Given the description of an element on the screen output the (x, y) to click on. 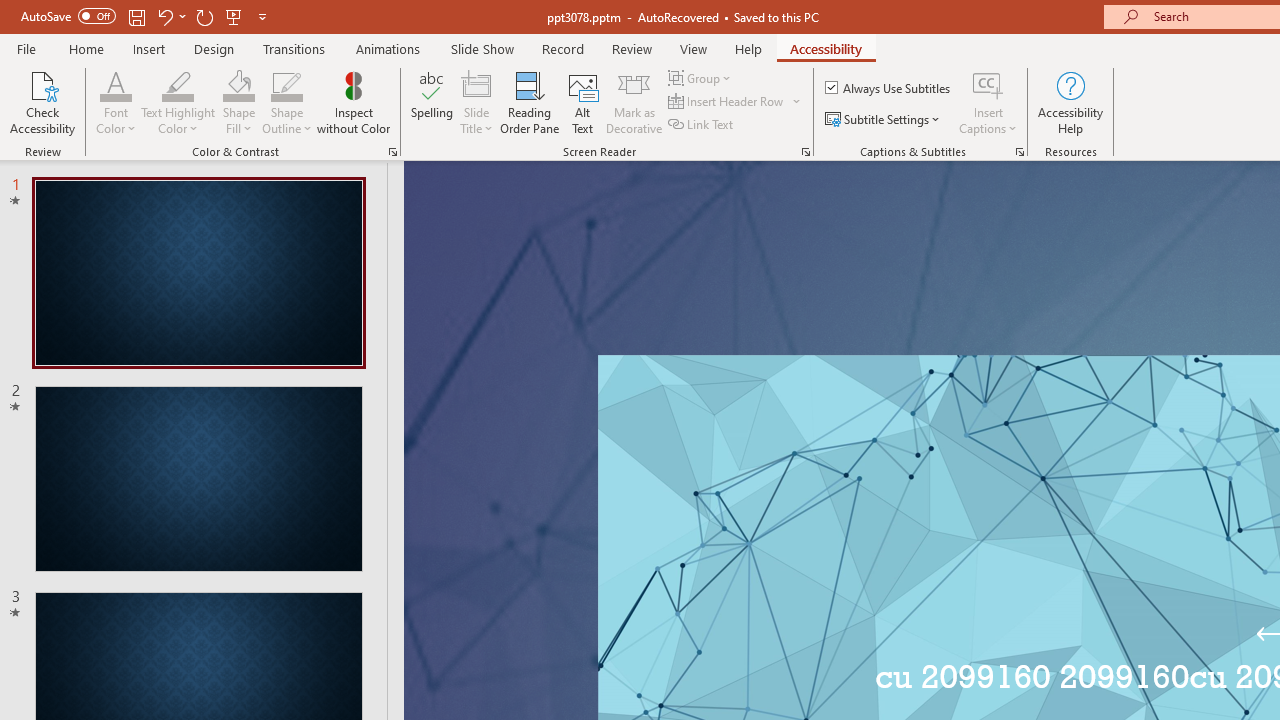
Insert Captions (988, 102)
Color & Contrast (392, 151)
Slide Title (476, 84)
Insert Header Row (735, 101)
Insert Captions (988, 84)
